Given the description of an element on the screen output the (x, y) to click on. 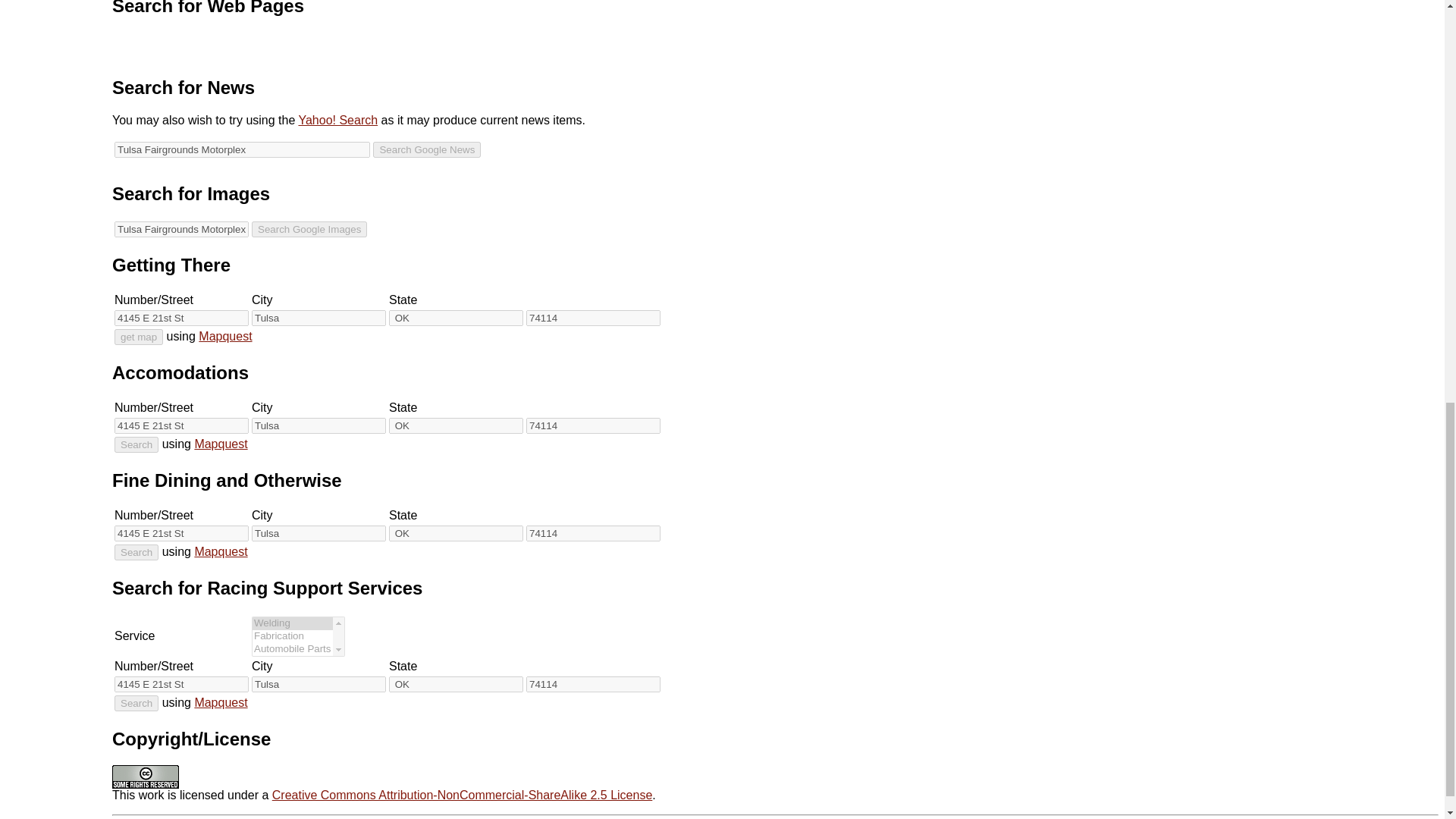
Tulsa (318, 317)
Search Google News (426, 149)
Search (136, 444)
 OK (455, 425)
Tulsa Fairgrounds Motorplex (242, 149)
4145 E 21st St (181, 425)
 OK (455, 533)
Search Google Images (308, 229)
Search Google Images (308, 229)
Tulsa (318, 425)
4145 E 21st St (181, 684)
Yahoo! Search (337, 119)
Search Google News (426, 149)
Tulsa (318, 533)
 OK (455, 317)
